Given the description of an element on the screen output the (x, y) to click on. 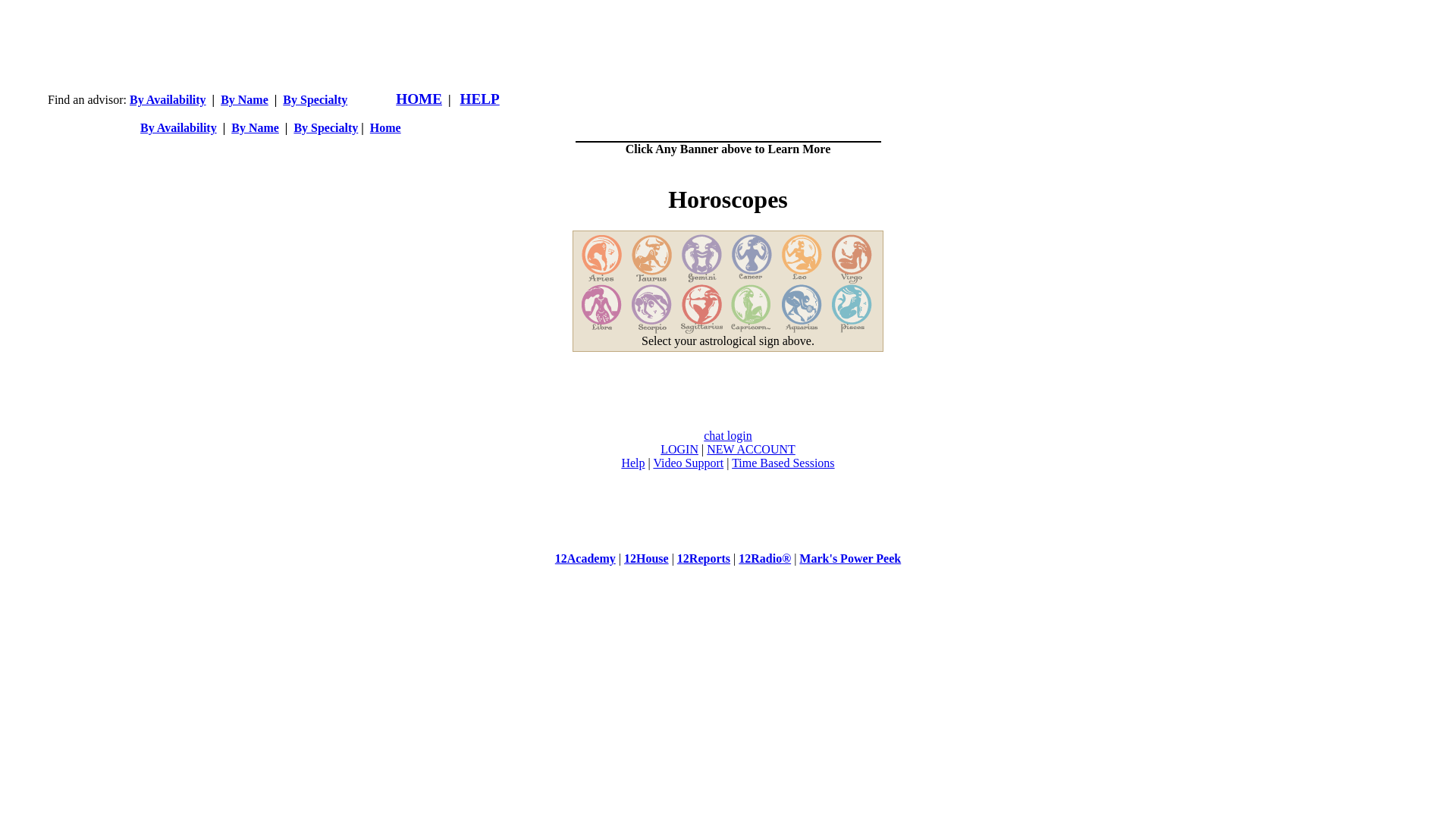
chat login Element type: text (727, 435)
Video Support Element type: text (687, 462)
NEW ACCOUNT Element type: text (750, 448)
By Availability Element type: text (178, 127)
  Element type: text (727, 74)
LOGIN Element type: text (679, 448)
By Specialty Element type: text (314, 99)
By Name Element type: text (244, 99)
By Specialty Element type: text (325, 127)
HOME Element type: text (418, 99)
12Academy Element type: text (585, 558)
Help Element type: text (632, 462)
HELP Element type: text (479, 99)
By Name Element type: text (255, 127)
Home Element type: text (385, 127)
12Reports Element type: text (703, 558)
Mark's Power Peek Element type: text (849, 558)
12House Element type: text (646, 558)
By Availability Element type: text (167, 99)
Time Based Sessions Element type: text (782, 462)
